Given the description of an element on the screen output the (x, y) to click on. 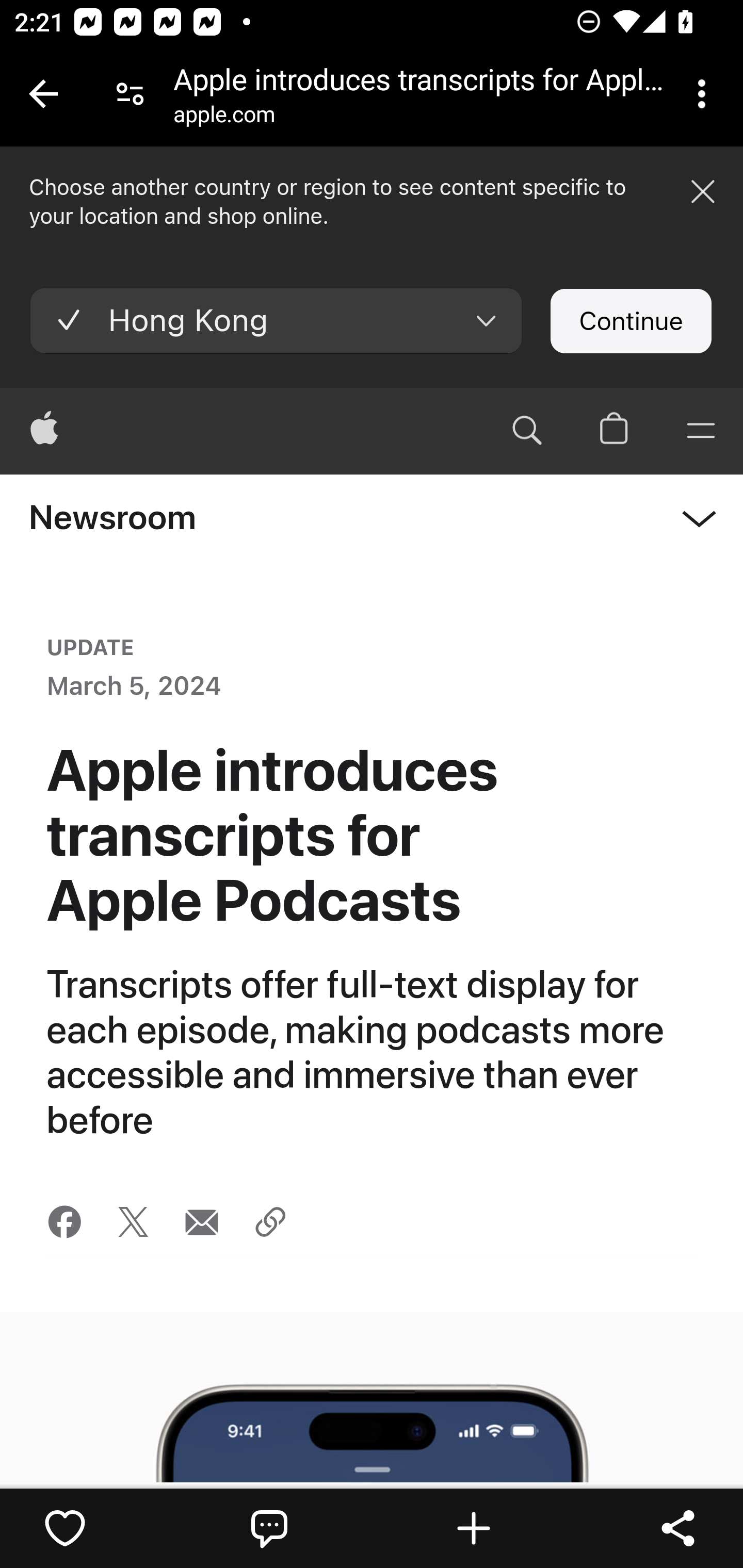
Close tab (43, 93)
Customize and control Google Chrome (705, 93)
Connection is secure (129, 93)
apple.com (223, 117)
Close country or region selector (702, 190)
 Hong Kong  (276, 320)
Continue (631, 321)
Apple (45, 430)
Search apple.com (526, 430)
Shopping Bag (614, 430)
Menu (700, 430)
Newsroom (112, 516)
Share this article via X (opens a new window) (132, 1221)
Share this article via Mail (opens in new window) (200, 1221)
Share via link (269, 1221)
Like (64, 1528)
Write a comment… (269, 1528)
Flip into Magazine (473, 1528)
Share (677, 1528)
